Given the description of an element on the screen output the (x, y) to click on. 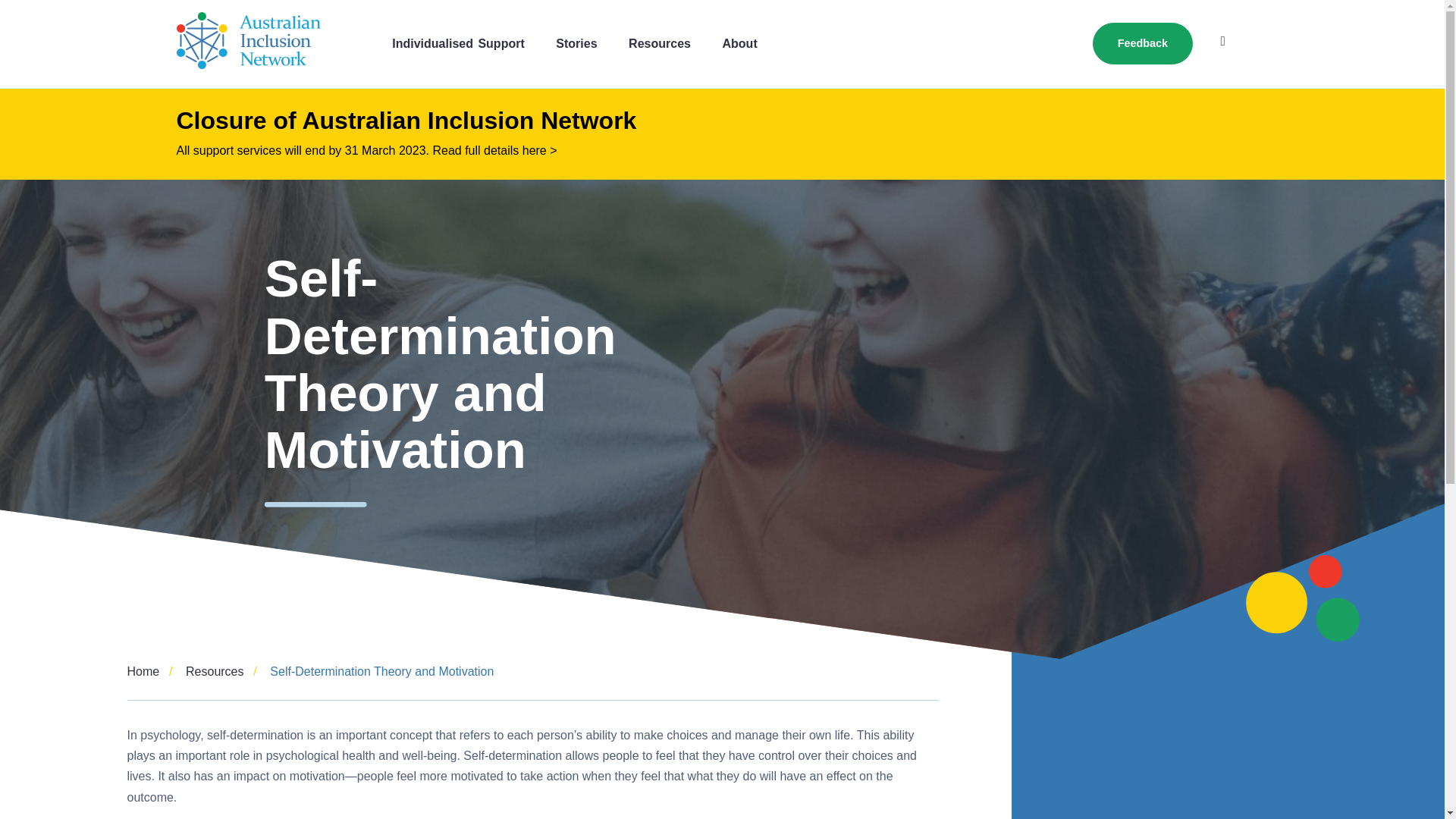
Resources (659, 43)
Feedback (1142, 43)
Search (1226, 41)
Australian Inclusion Network (248, 44)
About (739, 43)
Stories (576, 43)
Individualised Support (458, 43)
